Given the description of an element on the screen output the (x, y) to click on. 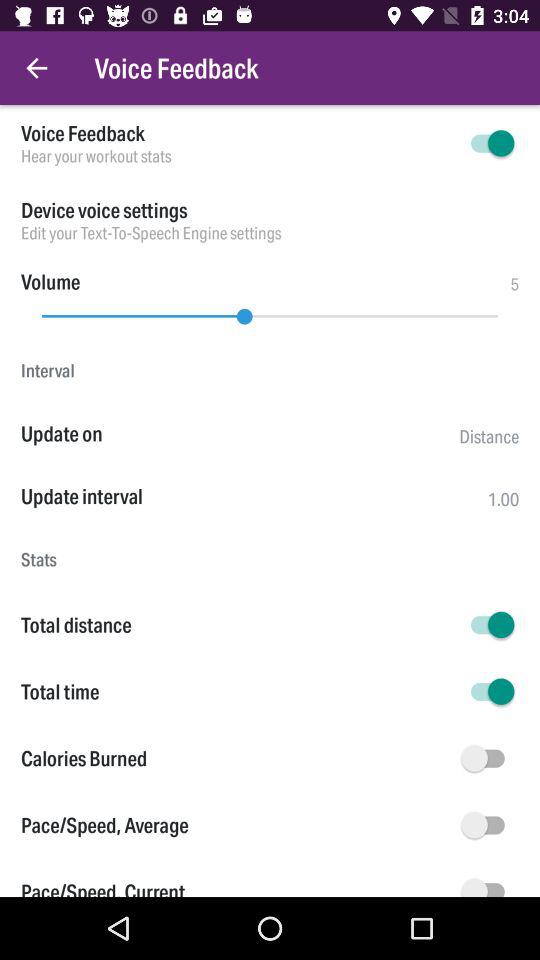
launch the item above the stats (254, 495)
